Given the description of an element on the screen output the (x, y) to click on. 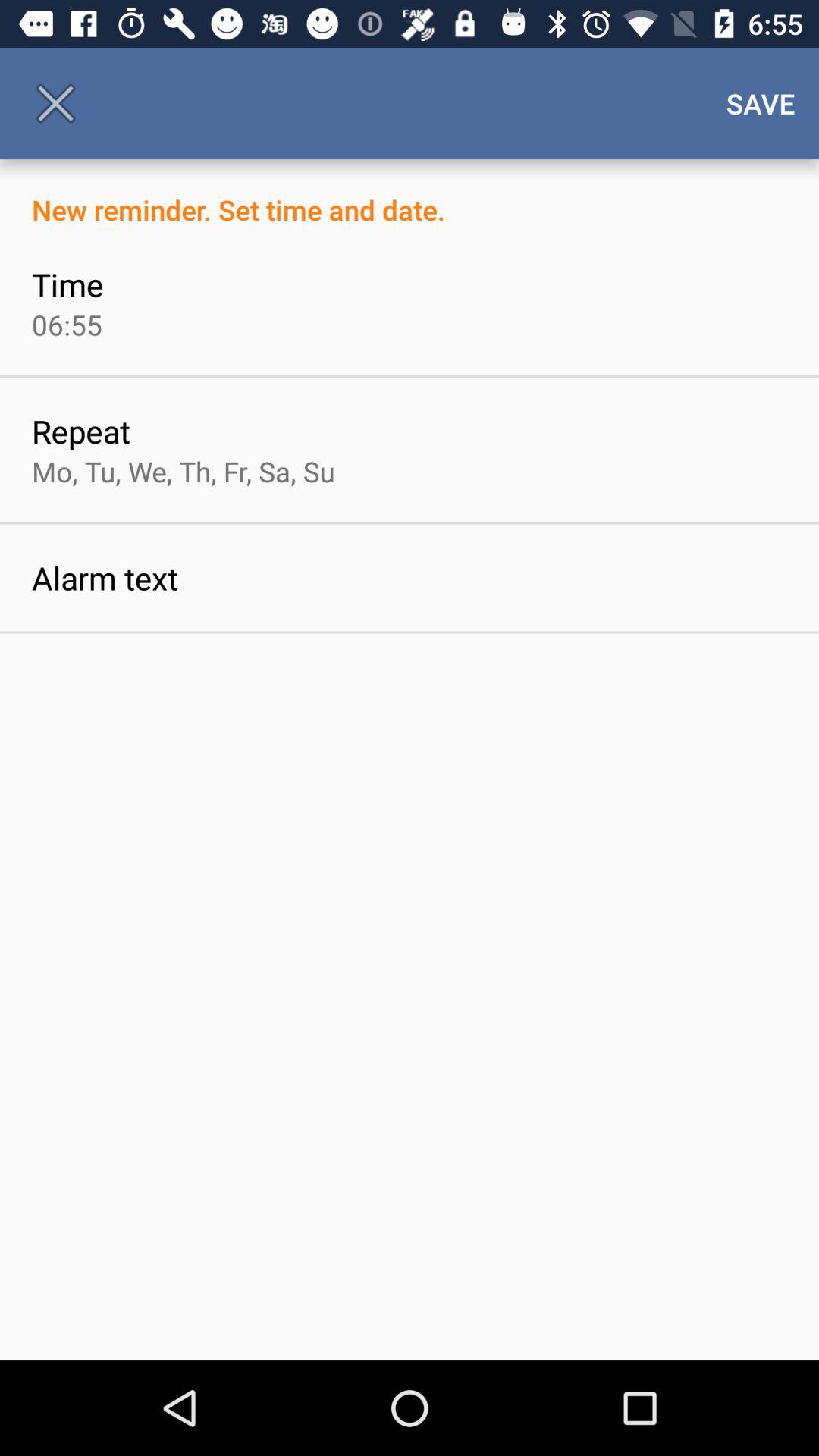
choose item next to save (55, 103)
